Given the description of an element on the screen output the (x, y) to click on. 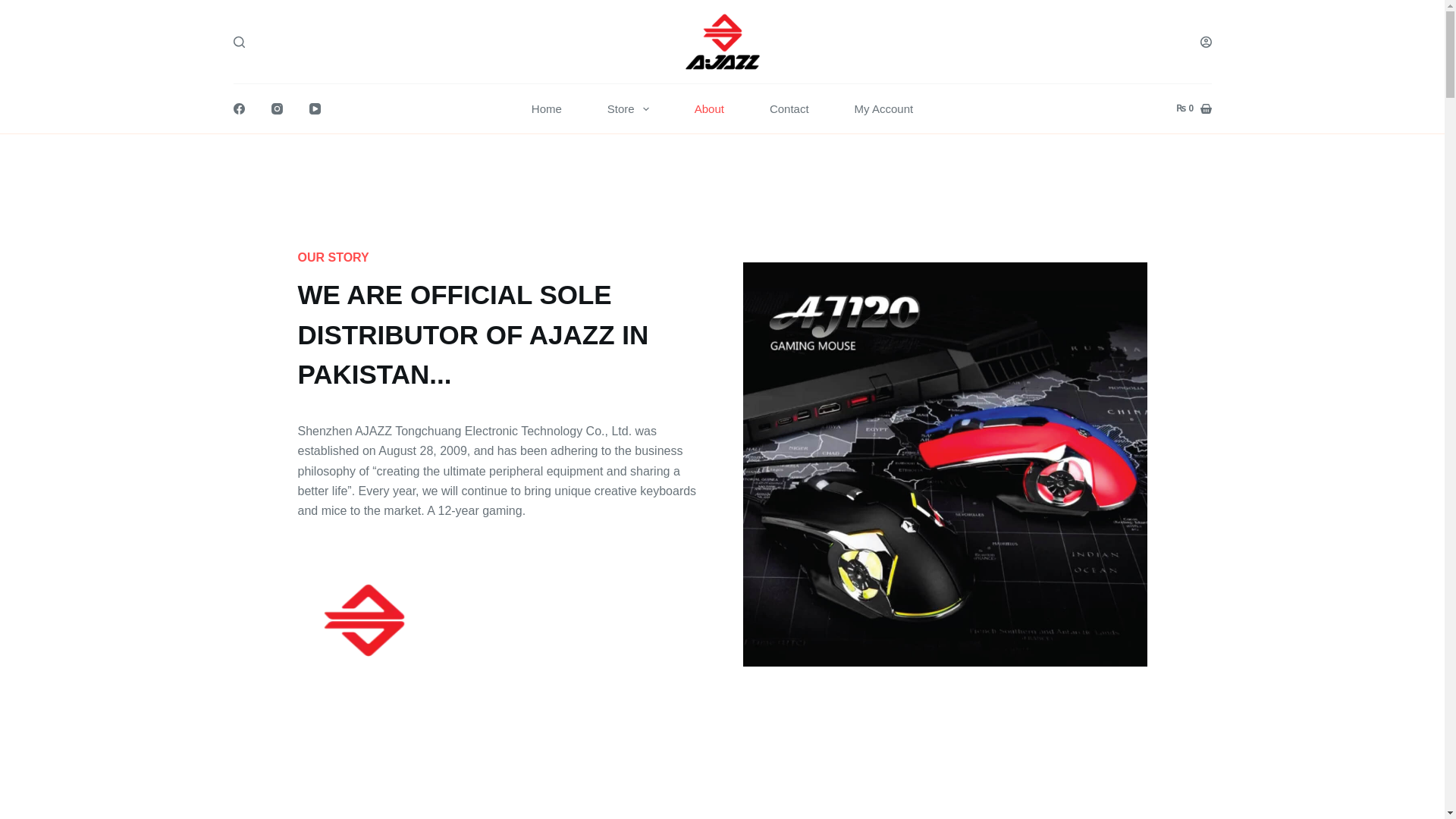
Store (628, 108)
Skip to content (15, 7)
Home (546, 108)
